Given the description of an element on the screen output the (x, y) to click on. 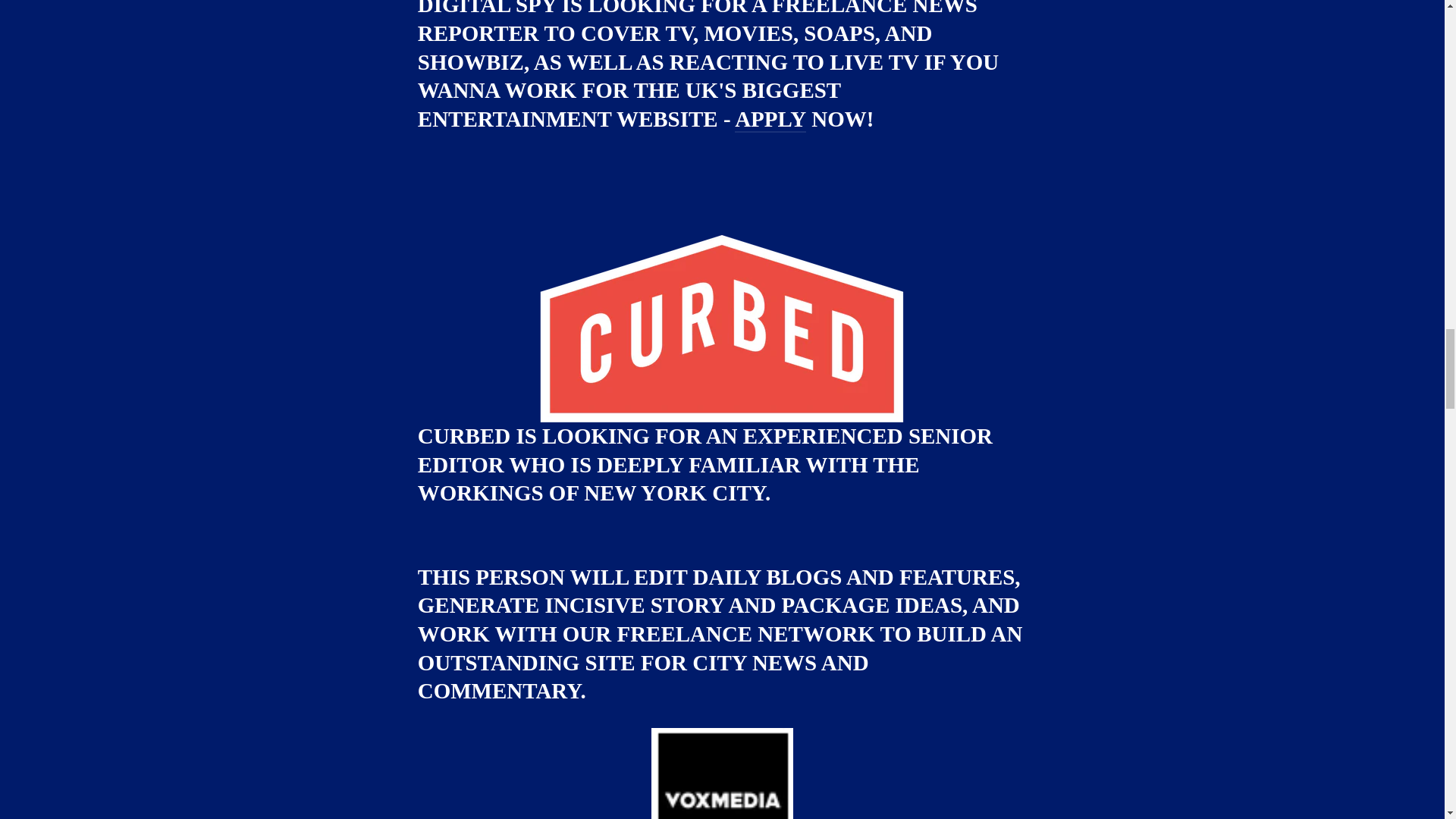
APPLY (770, 119)
